Given the description of an element on the screen output the (x, y) to click on. 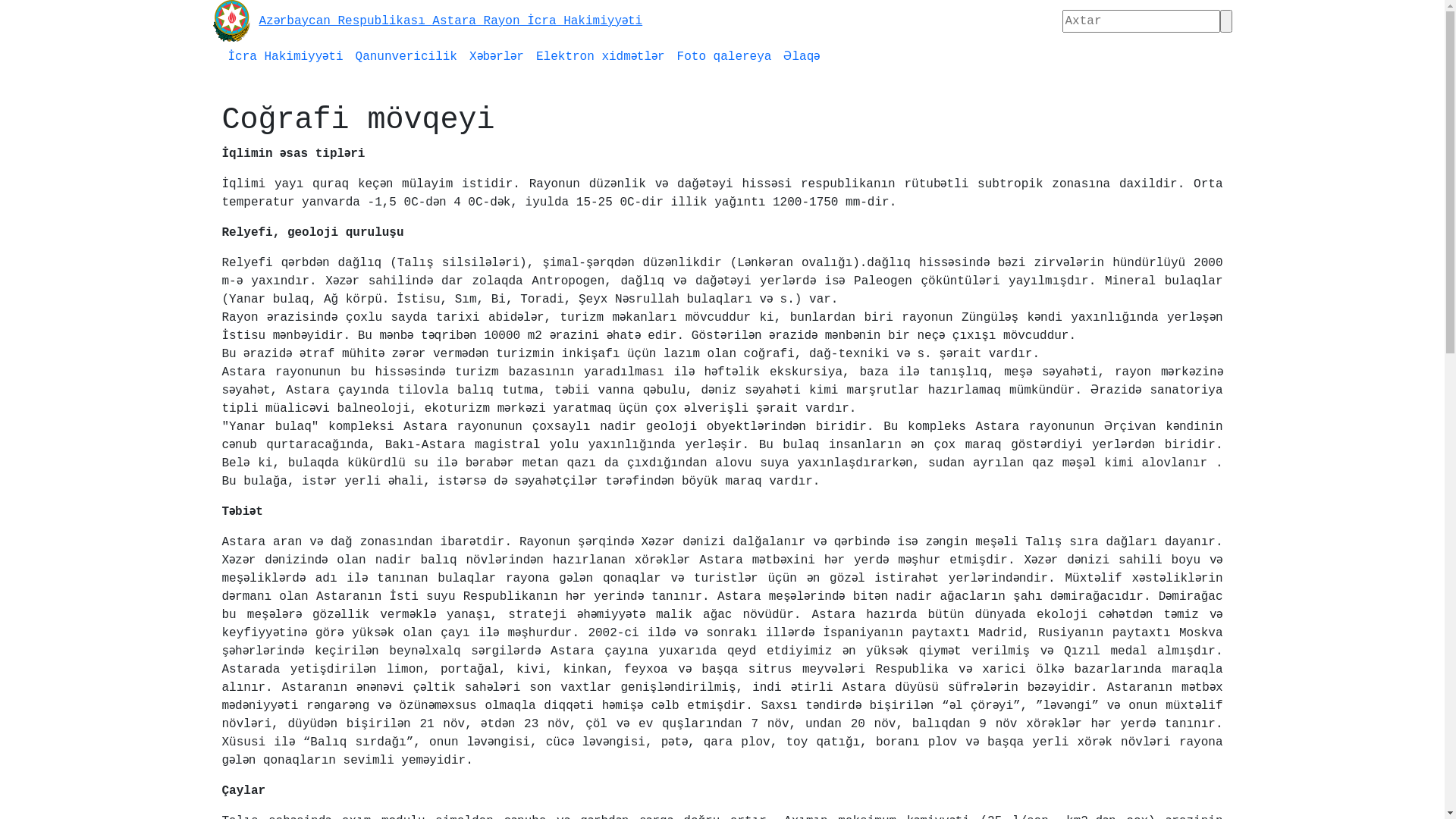
Foto qalereya Element type: text (724, 56)
Qanunvericilik Element type: text (406, 56)
